Given the description of an element on the screen output the (x, y) to click on. 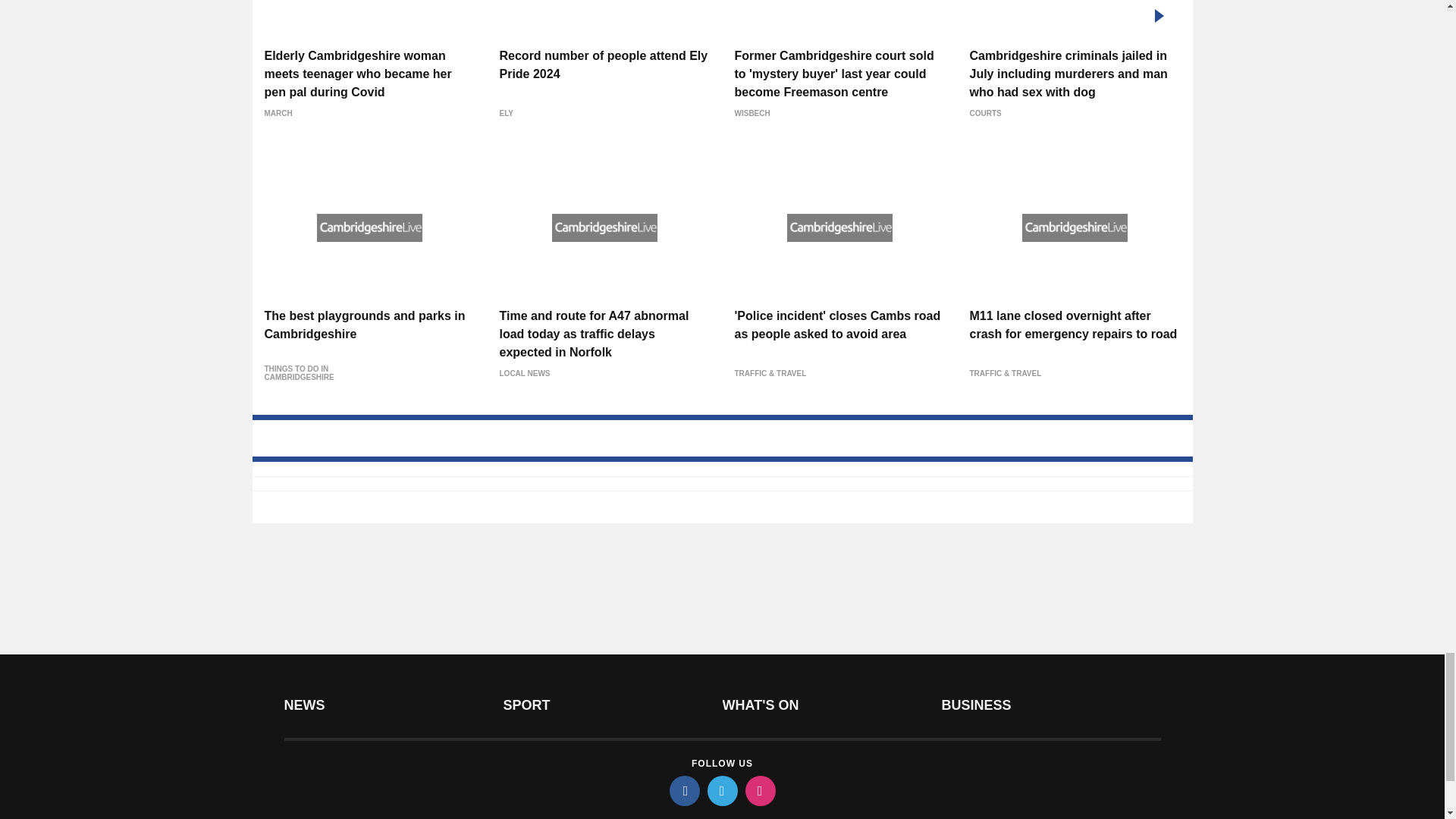
facebook (683, 790)
twitter (721, 790)
instagram (759, 790)
